Given the description of an element on the screen output the (x, y) to click on. 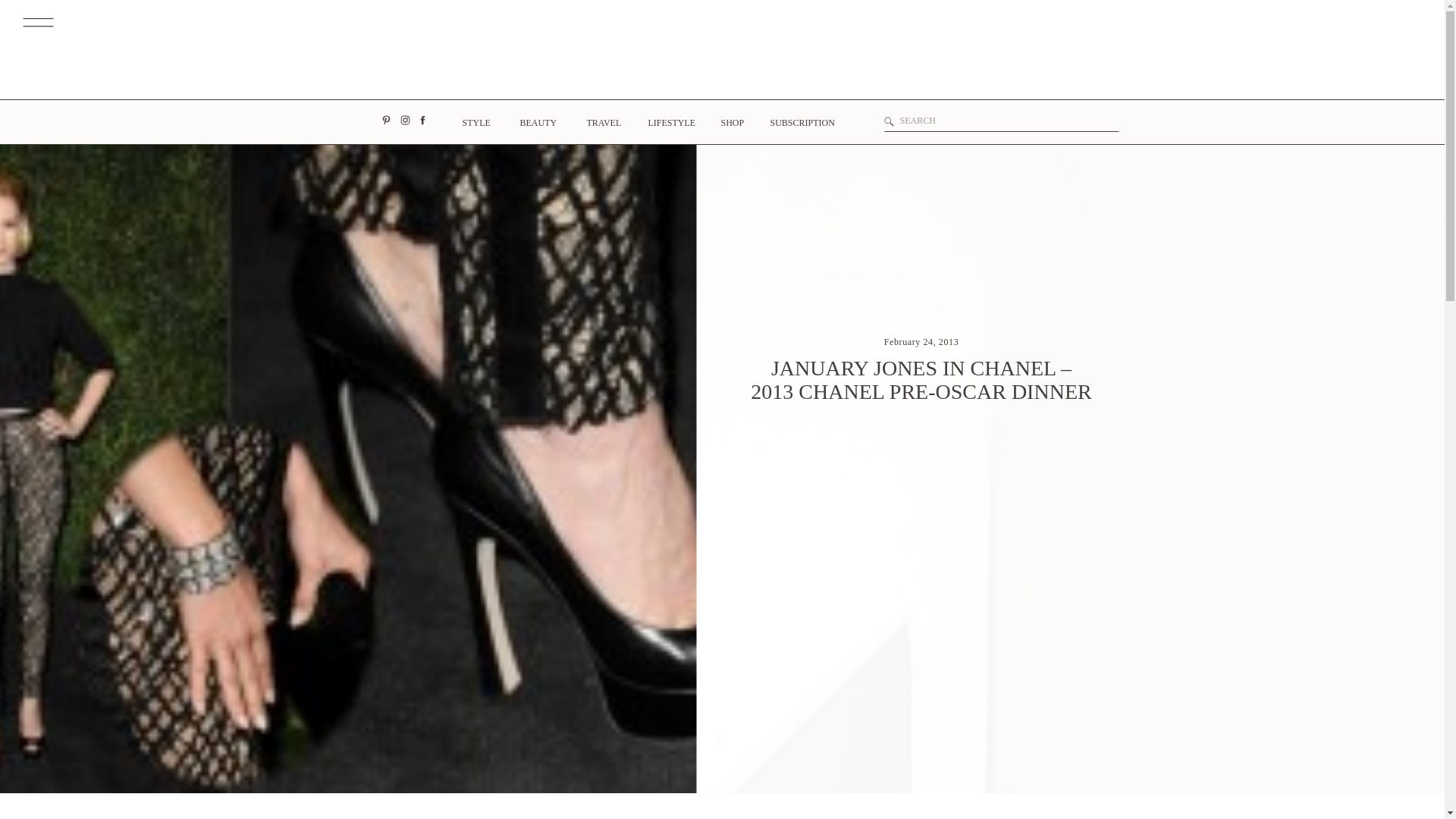
LIFESTYLE (666, 126)
TRAVEL (600, 126)
STYLE (474, 123)
BEAUTY (536, 126)
SUBSCRIPTION (801, 126)
SHOP (731, 126)
